Given the description of an element on the screen output the (x, y) to click on. 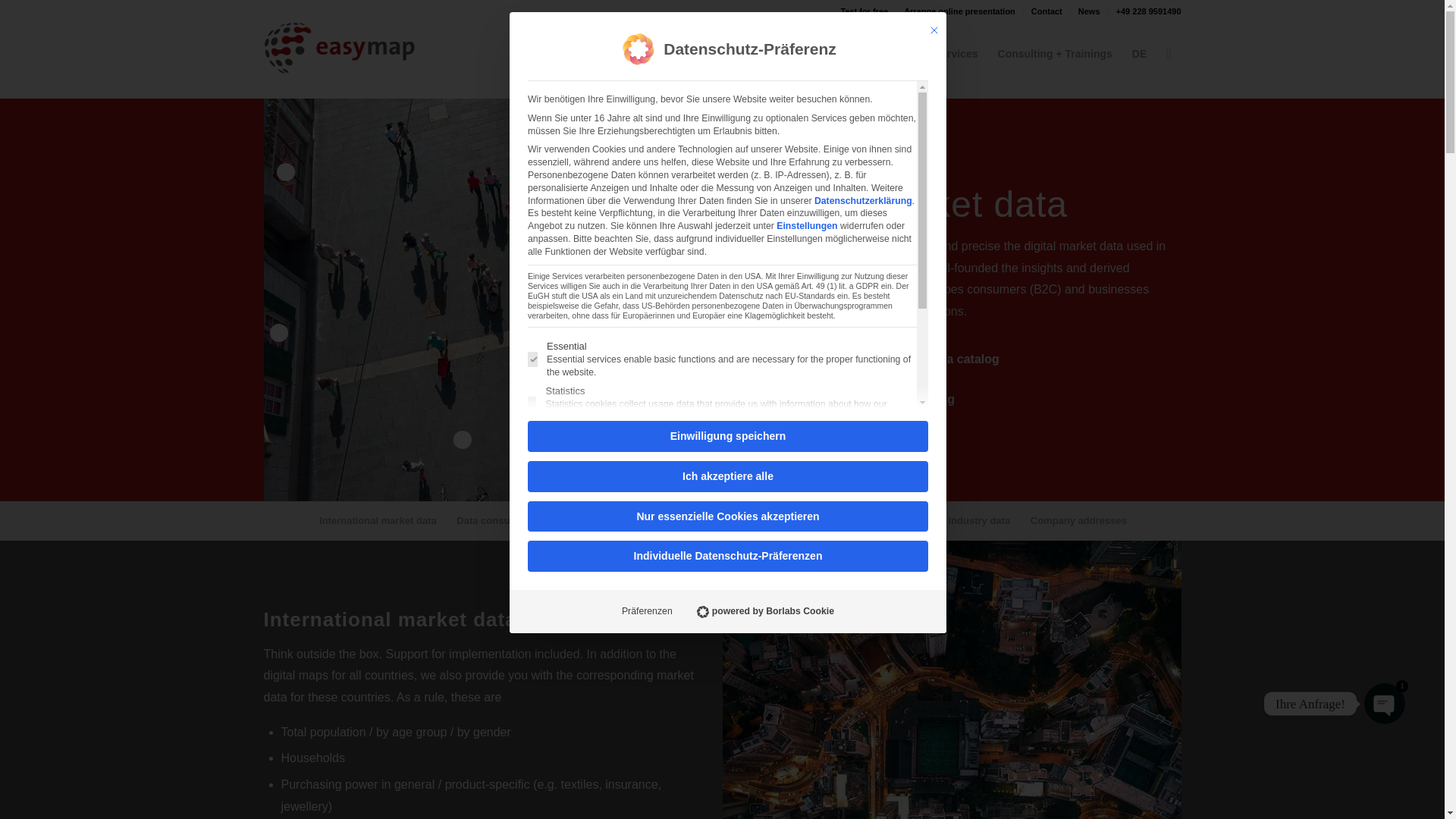
Arrange online presentation (959, 11)
easymap (593, 47)
Individual market data consulting (858, 399)
Industry data (978, 520)
Contact (1046, 11)
Data consulting (492, 520)
easymap (593, 47)
Customizing (828, 47)
Sociodemographics (686, 520)
News (1089, 11)
